Given the description of an element on the screen output the (x, y) to click on. 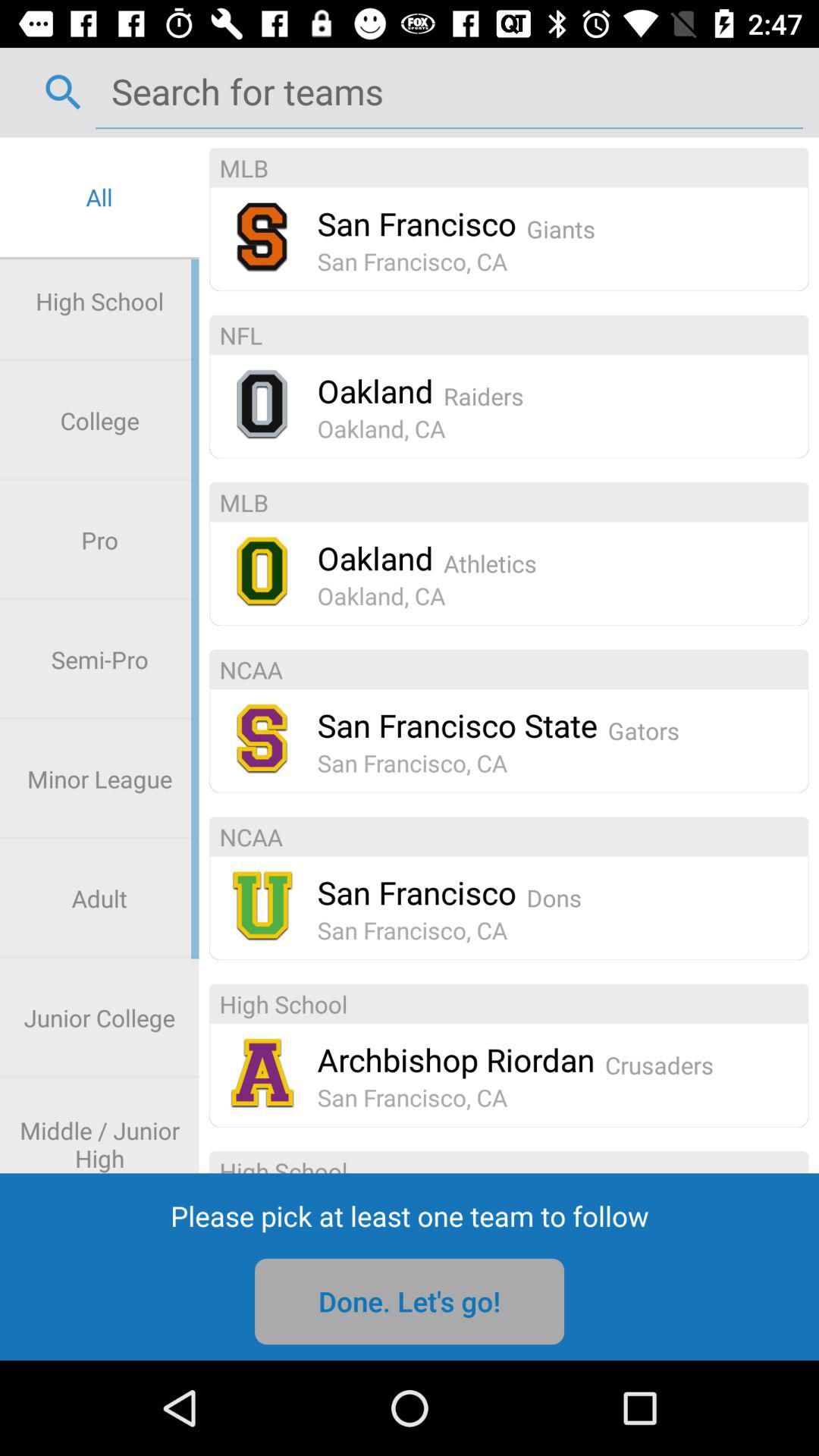
search (449, 91)
